Given the description of an element on the screen output the (x, y) to click on. 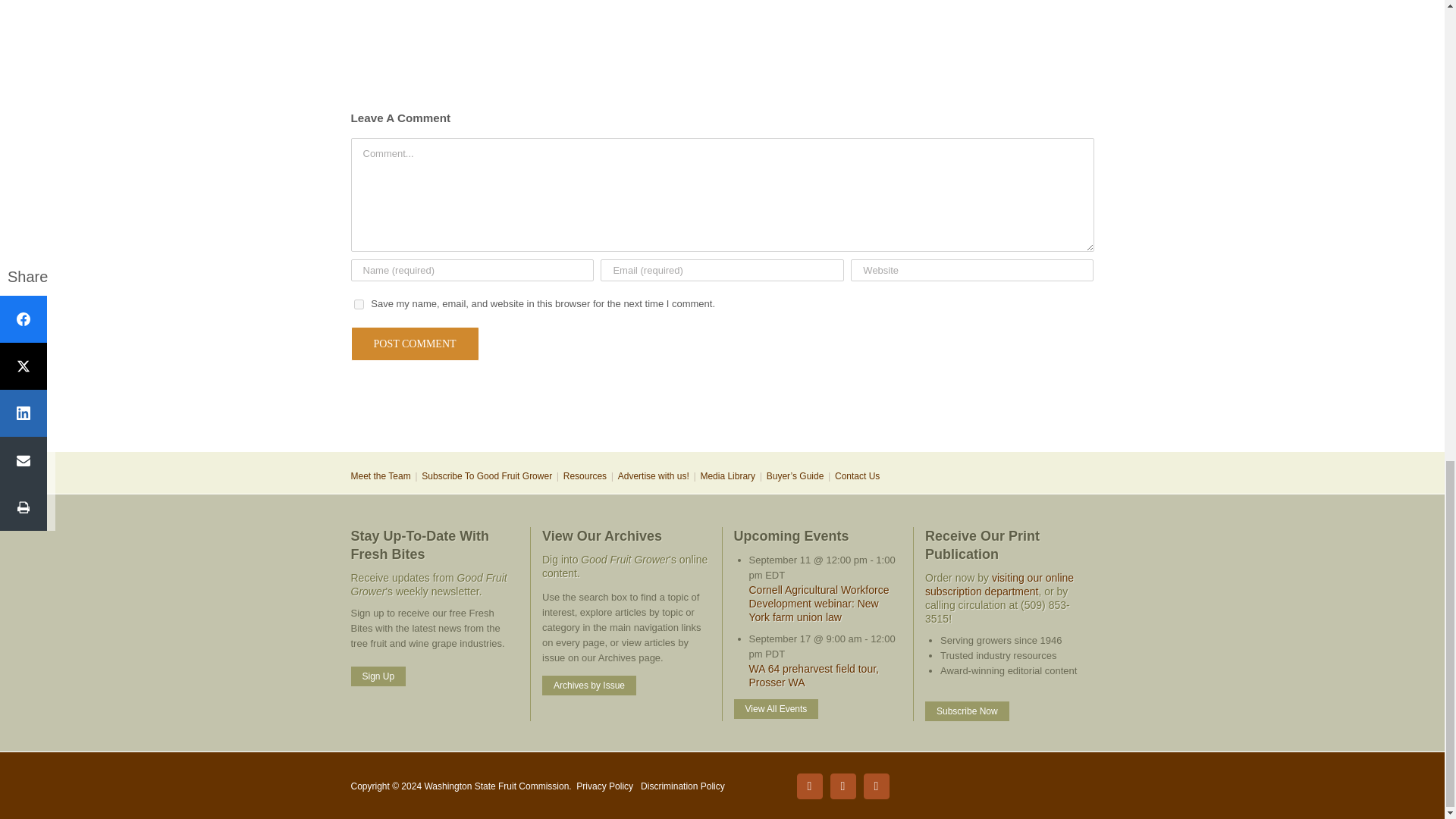
LinkedIn (842, 786)
Post Comment (414, 343)
Facebook (809, 786)
YouTube (875, 786)
yes (357, 304)
